Given the description of an element on the screen output the (x, y) to click on. 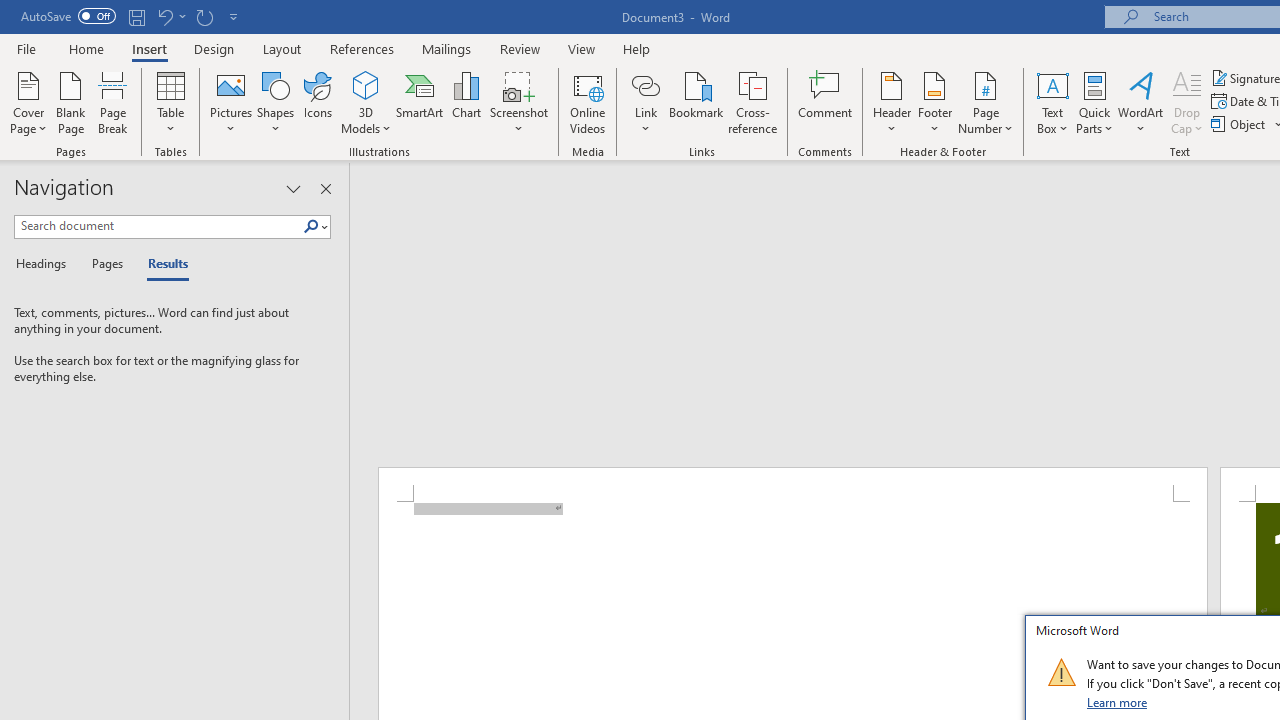
Learn more (1118, 702)
Header -Section 1- (792, 485)
Link (645, 84)
Repeat Doc Close (204, 15)
Cross-reference... (752, 102)
Screenshot (518, 102)
Footer (934, 102)
Pictures (230, 102)
Header (891, 102)
